Given the description of an element on the screen output the (x, y) to click on. 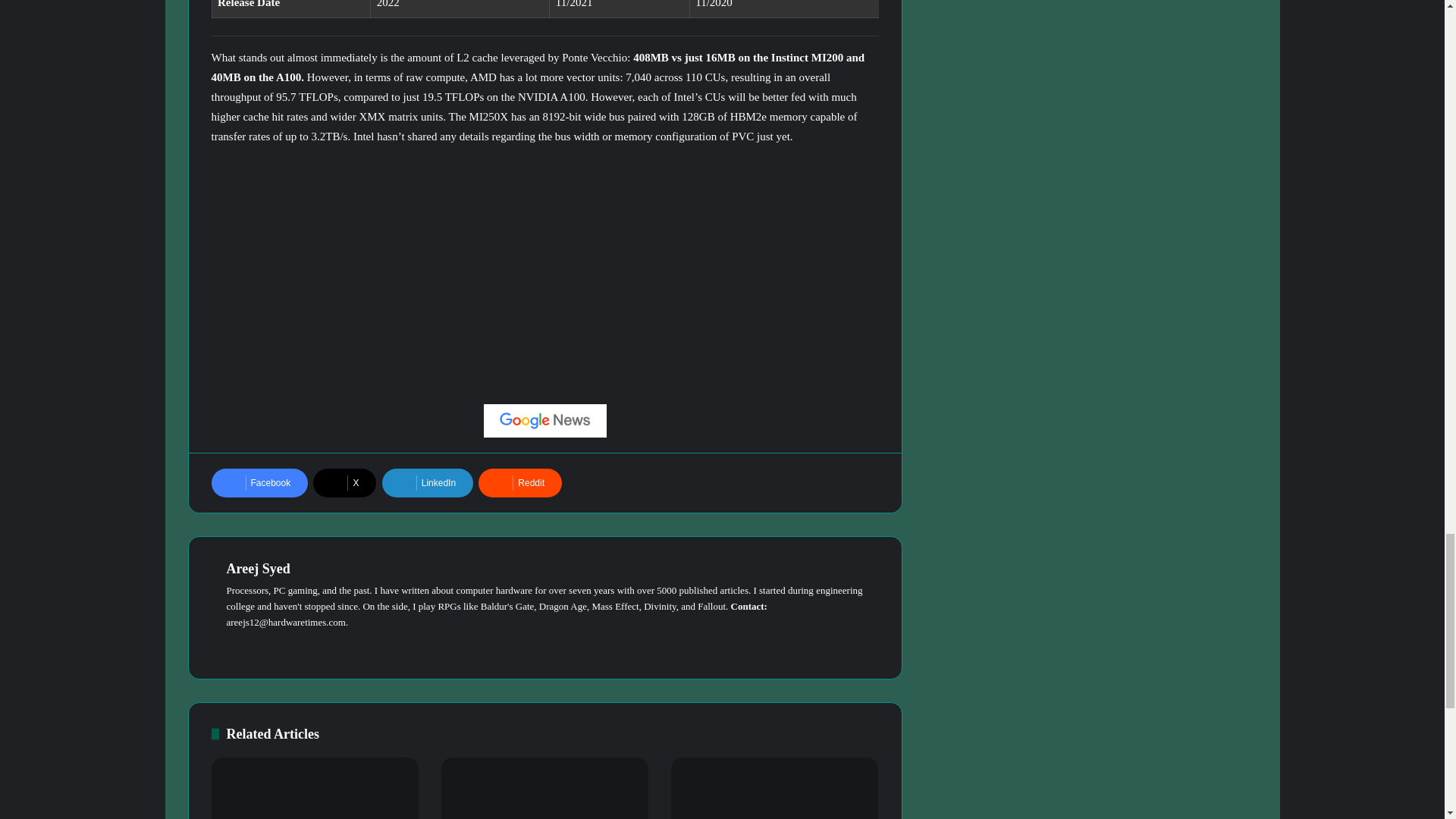
Reddit (520, 482)
LinkedIn (427, 482)
Facebook (259, 482)
X (344, 482)
